Given the description of an element on the screen output the (x, y) to click on. 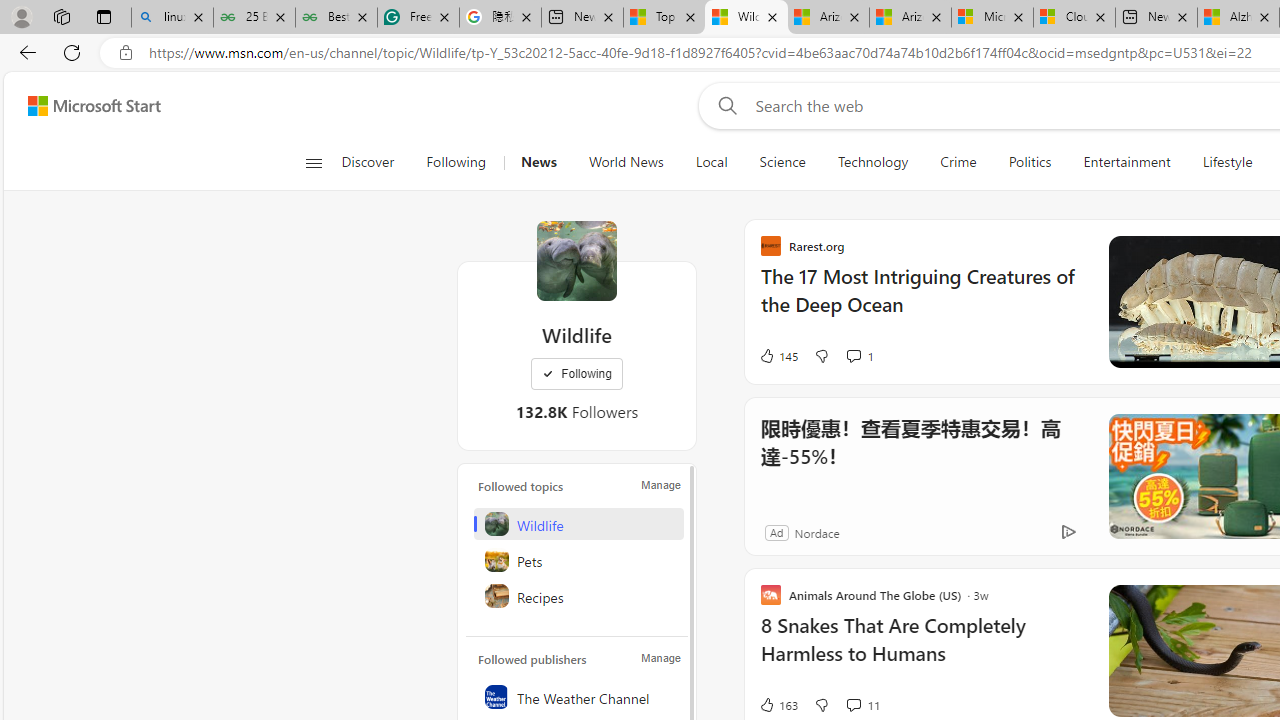
25 Basic Linux Commands For Beginners - GeeksforGeeks (254, 17)
Wildlife - MSN (746, 17)
Free AI Writing Assistance for Students | Grammarly (418, 17)
The 17 Most Intriguing Creatures of the Deep Ocean (922, 300)
163 Like (778, 704)
Wildlife (576, 260)
